Given the description of an element on the screen output the (x, y) to click on. 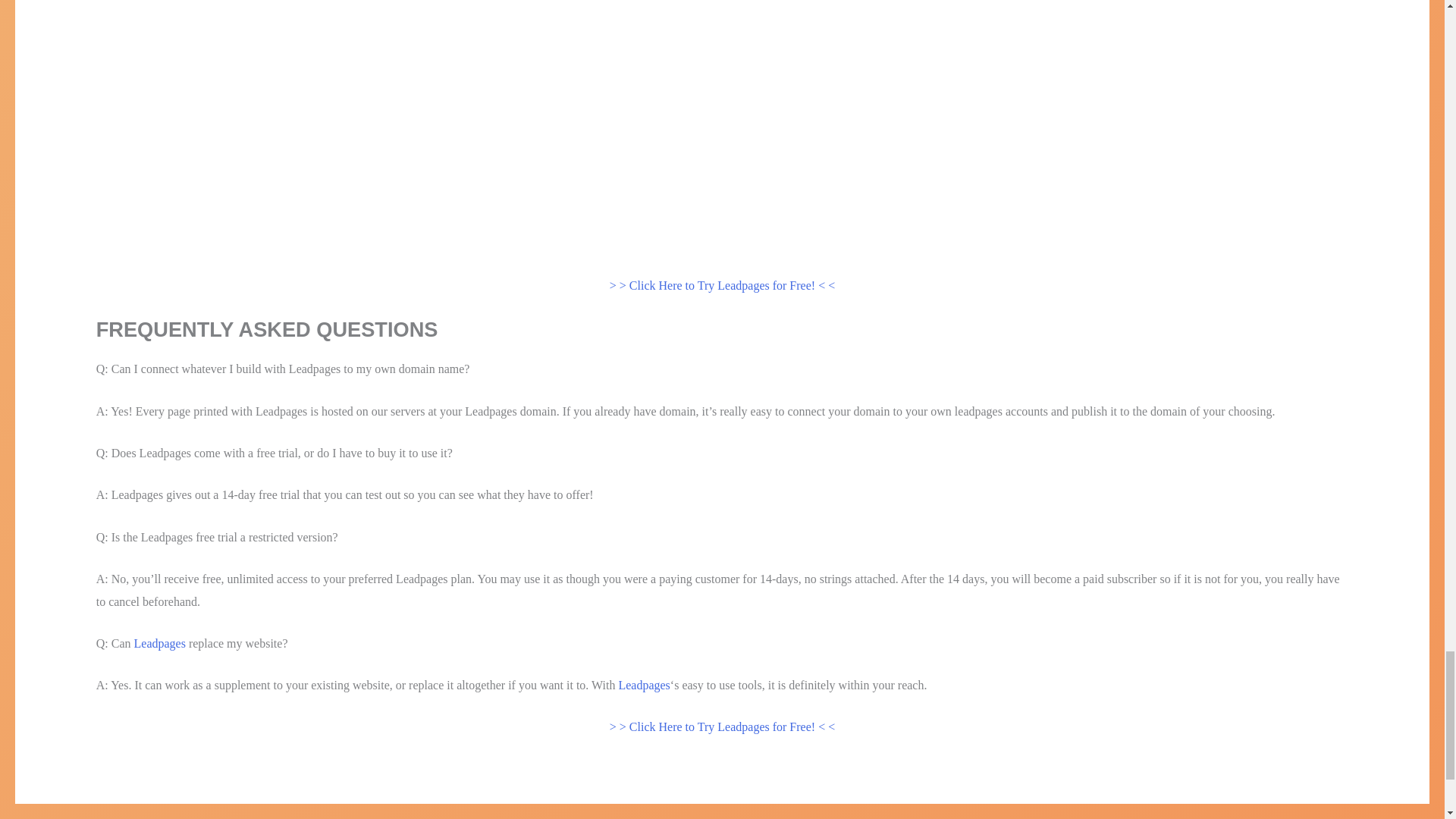
Leadpages (158, 643)
Leadpages (643, 684)
